Given the description of an element on the screen output the (x, y) to click on. 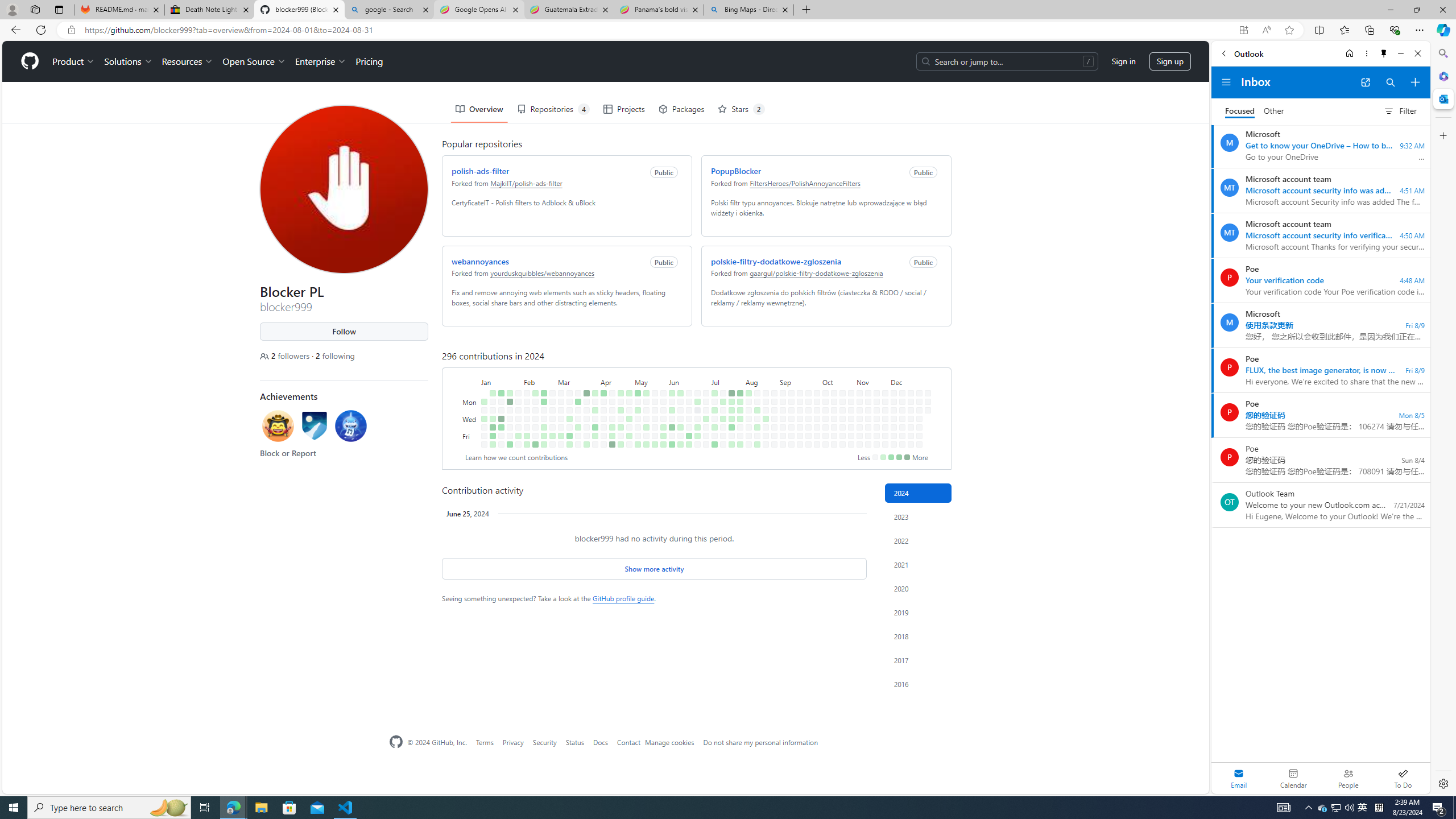
Focused Inbox, toggle to go to Other Inbox (1254, 110)
